Given the description of an element on the screen output the (x, y) to click on. 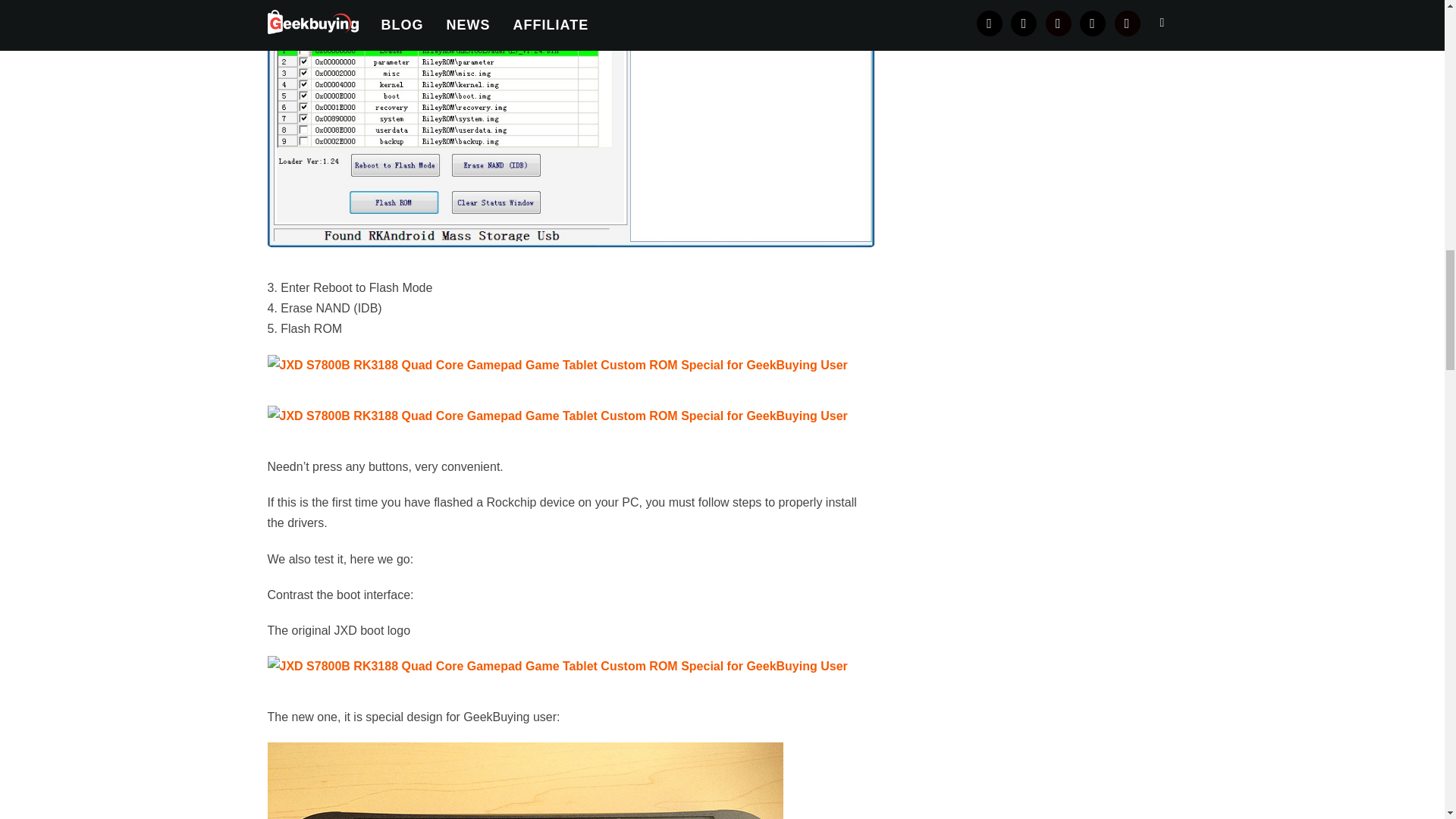
1 (556, 666)
1 (556, 364)
2 (556, 415)
2 (524, 780)
